Given the description of an element on the screen output the (x, y) to click on. 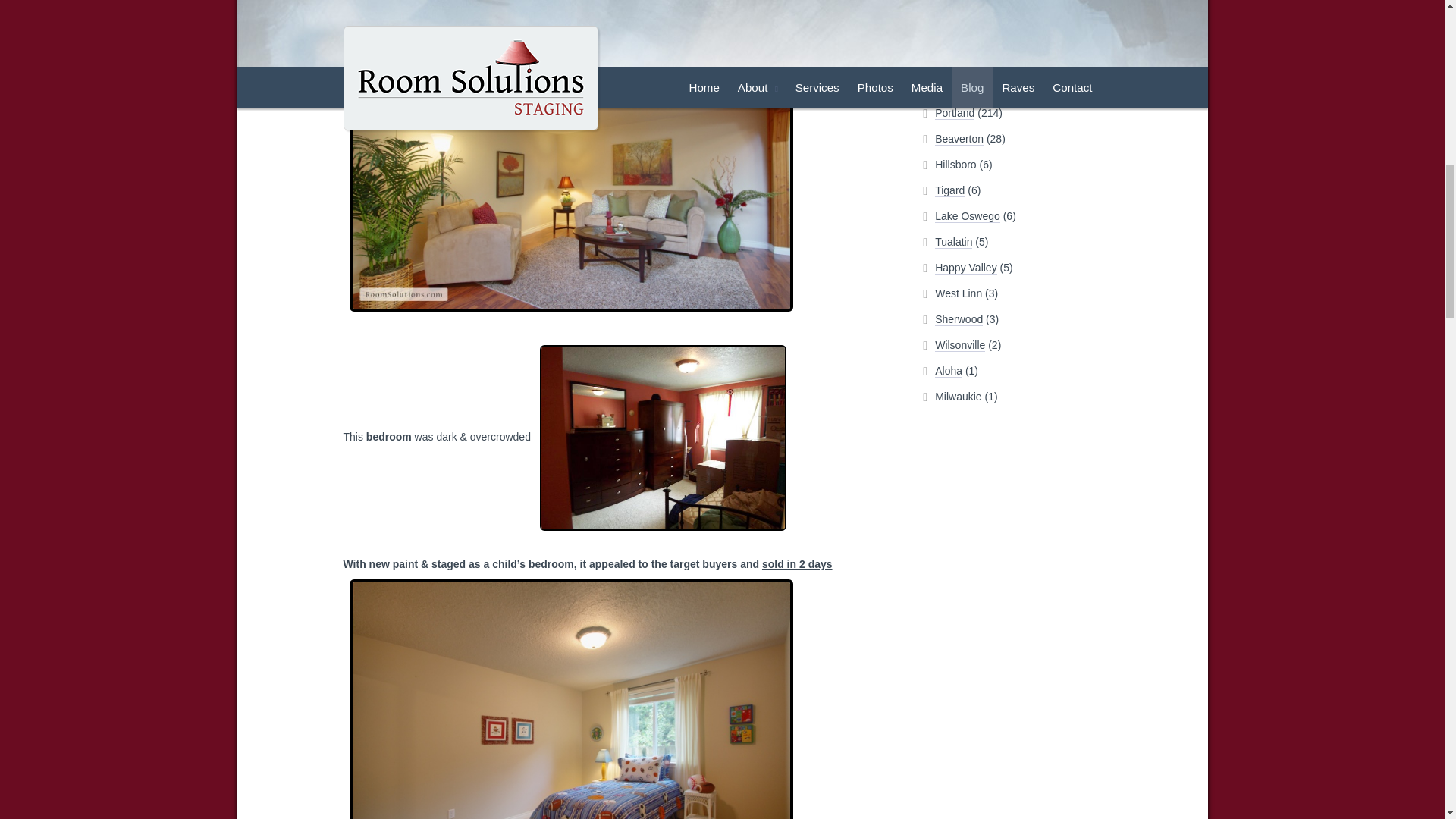
www.roomsolutions.com (570, 699)
house stagers portland oregon (570, 163)
portland oregon home staging experts (663, 437)
